Given the description of an element on the screen output the (x, y) to click on. 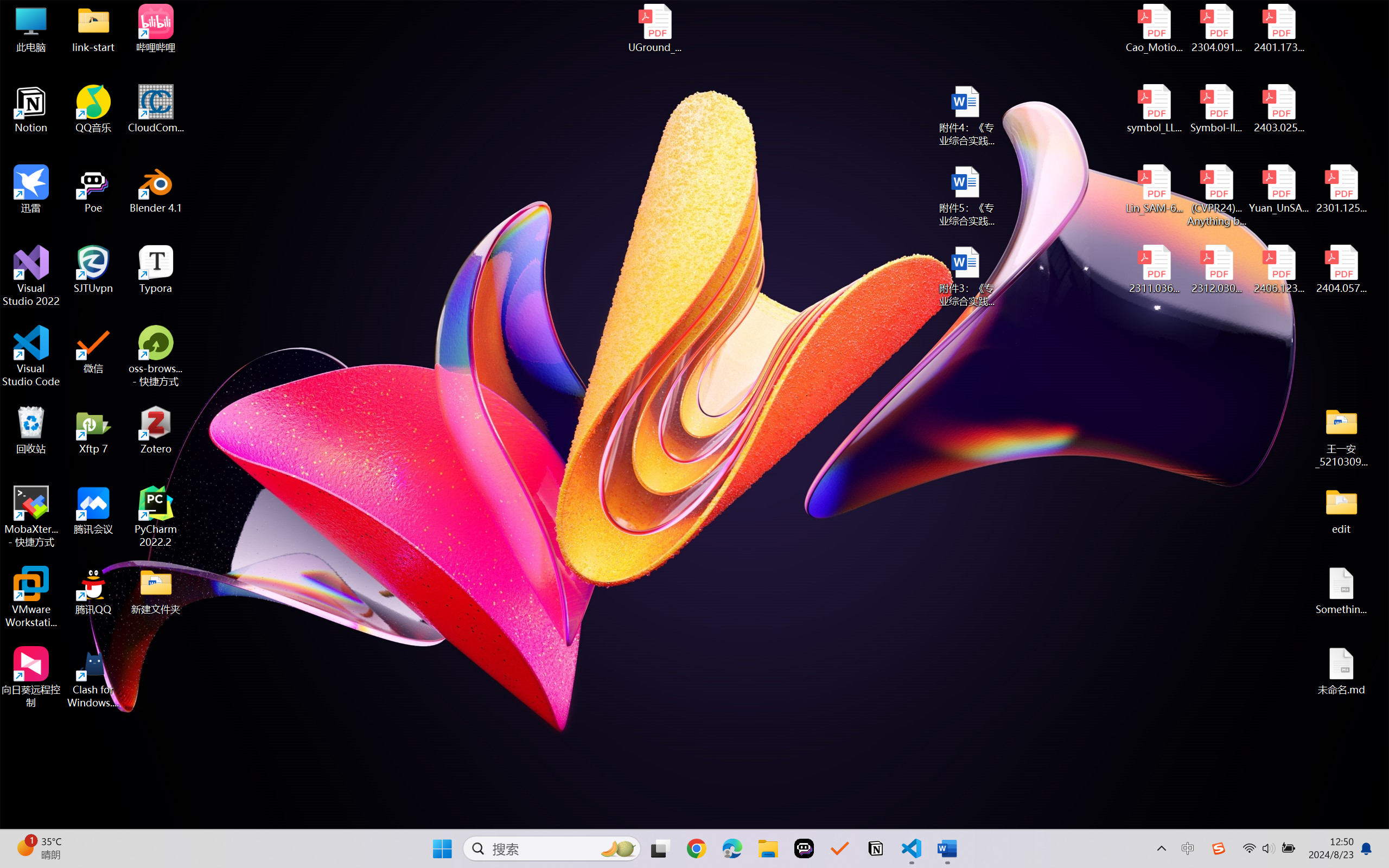
2401.17399v1.pdf (1278, 28)
2304.09121v3.pdf (1216, 28)
CloudCompare (156, 109)
(CVPR24)Matching Anything by Segmenting Anything.pdf (1216, 195)
